Given the description of an element on the screen output the (x, y) to click on. 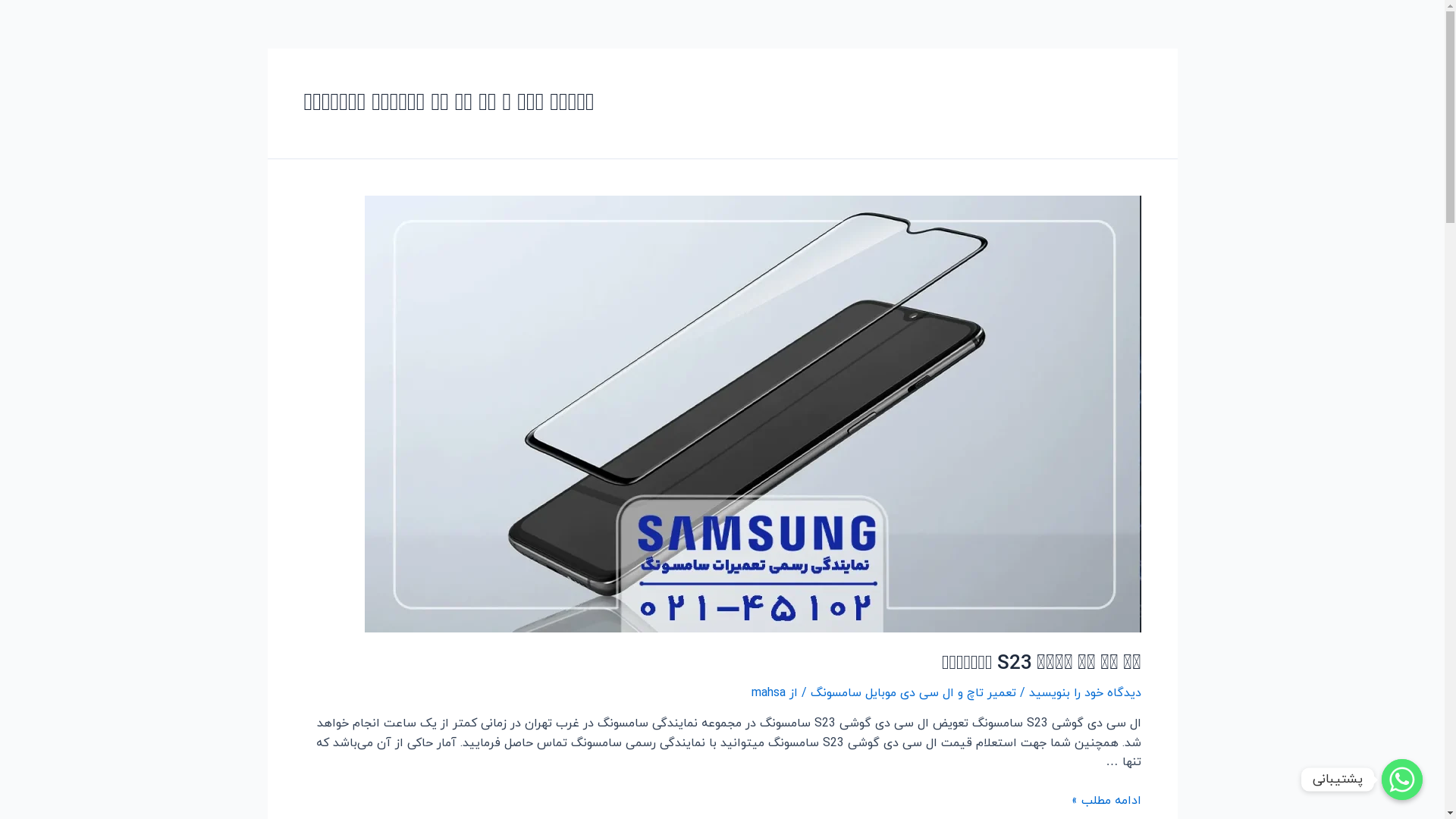
mahsa Element type: text (767, 692)
